Given the description of an element on the screen output the (x, y) to click on. 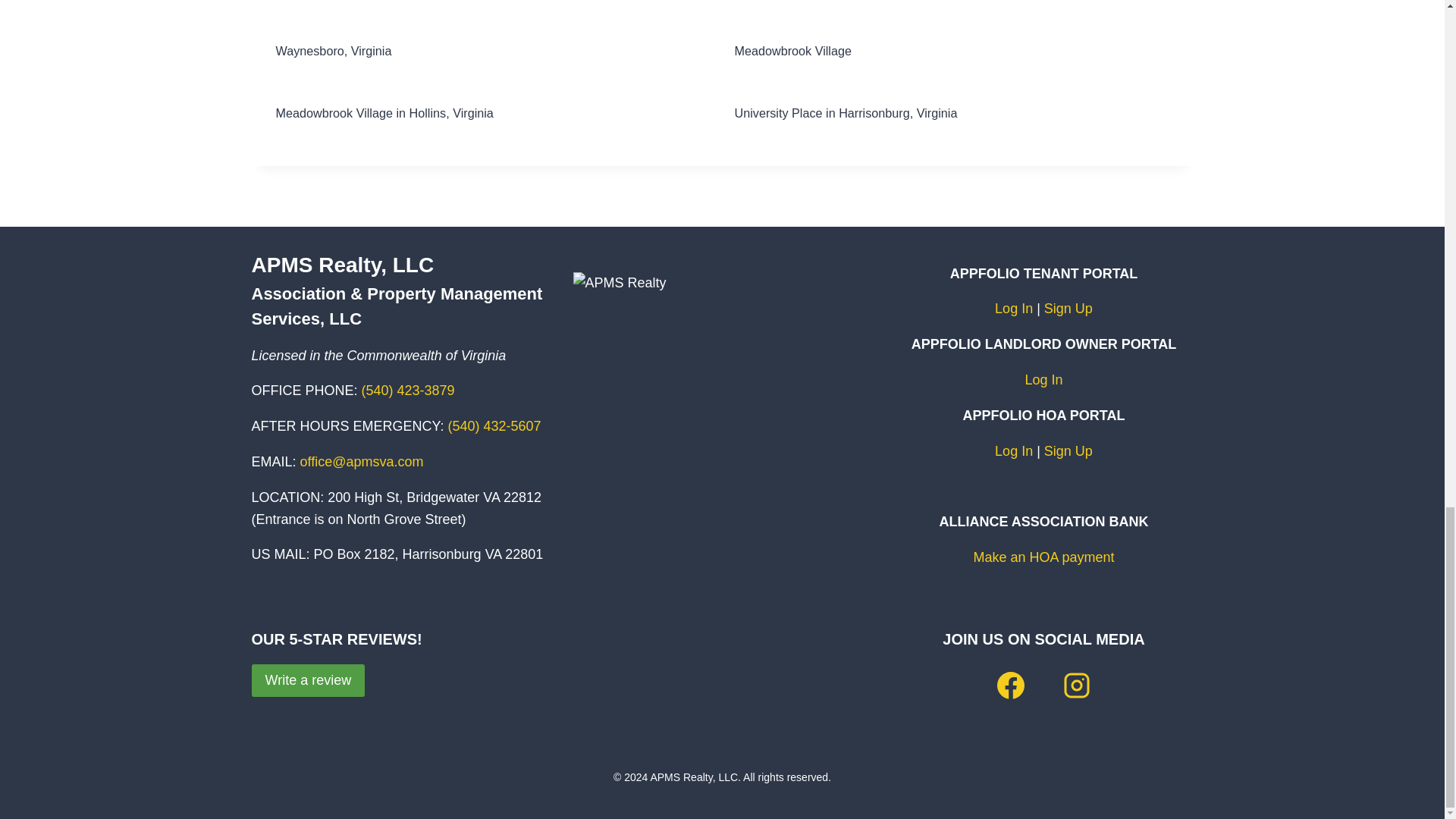
Sign Up (1068, 308)
Log In (1013, 308)
Log In (1043, 379)
